Given the description of an element on the screen output the (x, y) to click on. 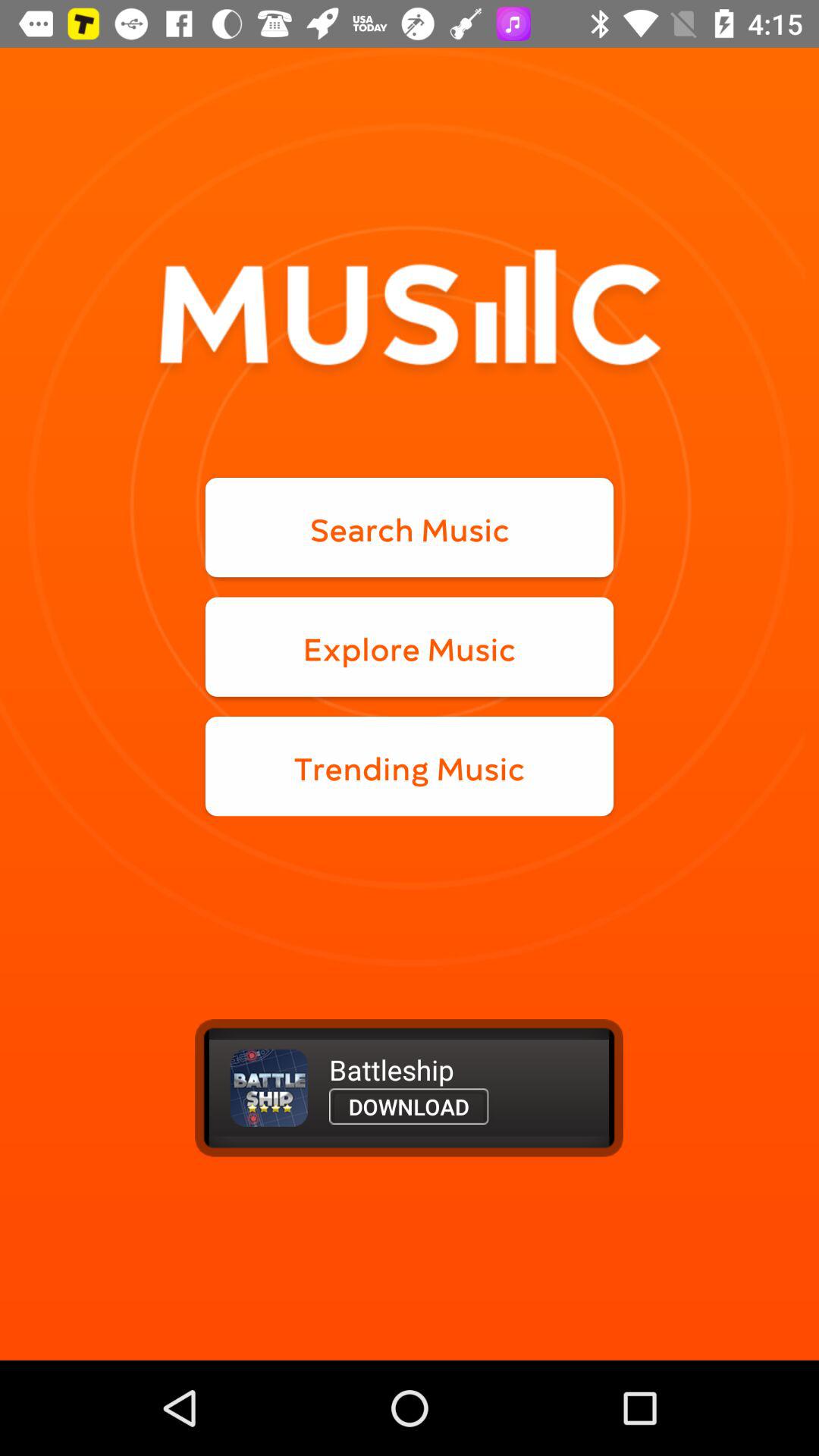
launch the explore music (409, 646)
